Given the description of an element on the screen output the (x, y) to click on. 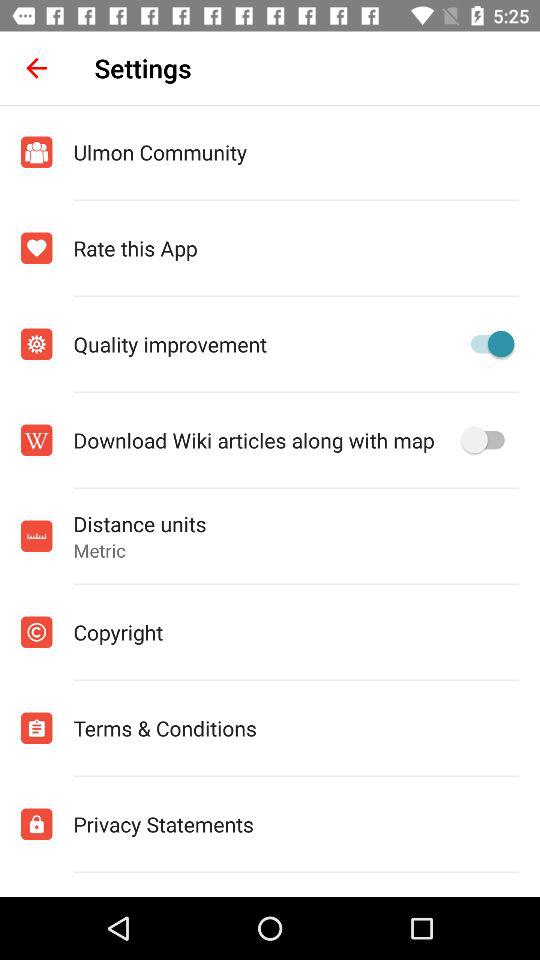
toggle quality improvement (487, 343)
